Given the description of an element on the screen output the (x, y) to click on. 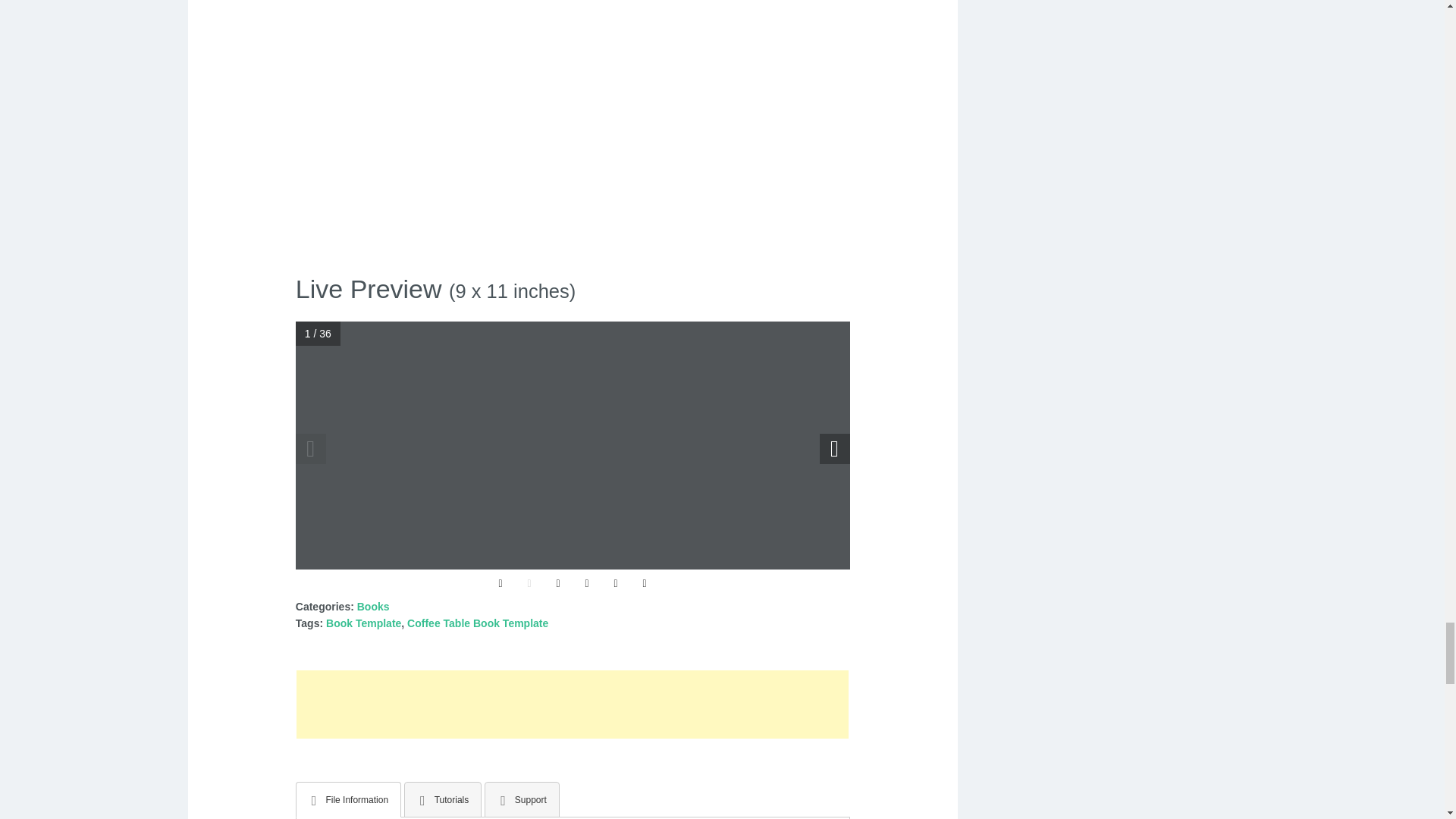
Coffee Table Book Template (477, 623)
Table of Contents (557, 583)
Sound (615, 583)
Books (373, 606)
Toggle fullscreen (644, 583)
Book Template (363, 623)
Zoom in (500, 583)
Pages (586, 583)
Zoom out (529, 583)
